Given the description of an element on the screen output the (x, y) to click on. 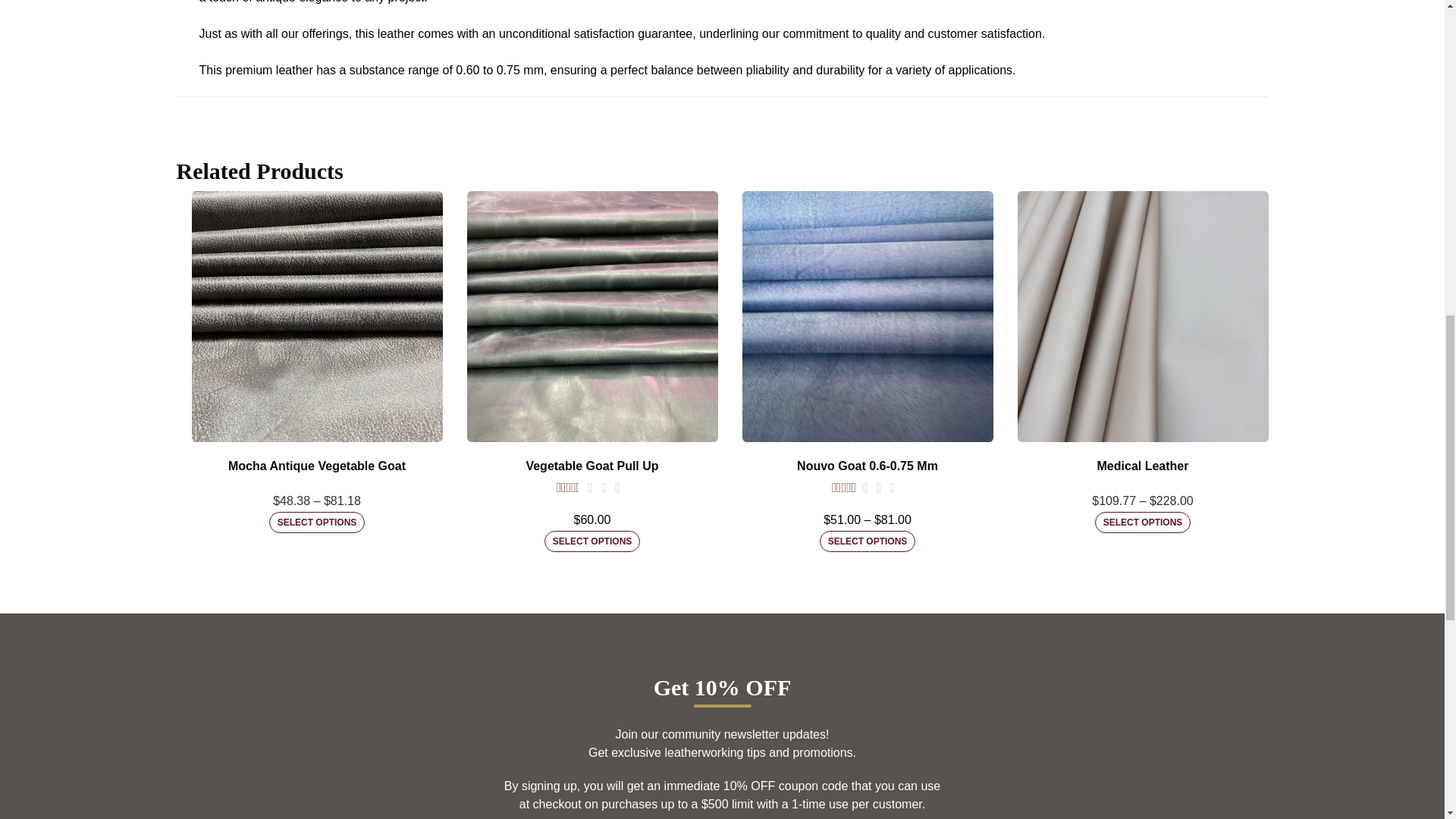
SELECT OPTIONS (592, 541)
SELECT OPTIONS (317, 522)
SELECT OPTIONS (867, 541)
SELECT OPTIONS (1142, 522)
